Given the description of an element on the screen output the (x, y) to click on. 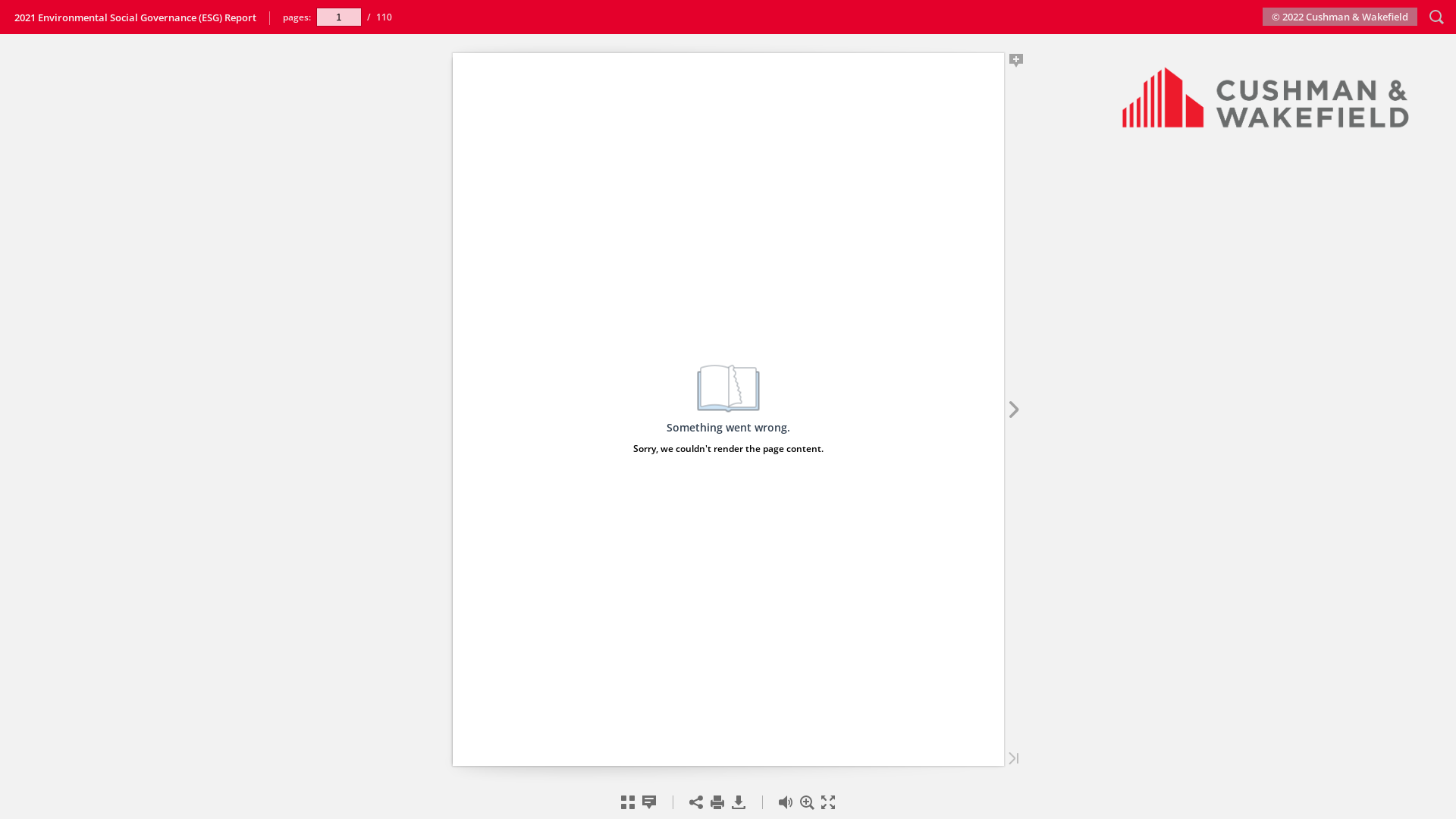
Last Page Element type: hover (1013, 758)
Search Element type: hover (1435, 16)
Download Element type: hover (738, 801)
Thumbnails Element type: hover (627, 801)
Toggle Sound Element type: hover (785, 801)
Fullscreen Element type: hover (827, 801)
Next Page Element type: hover (1013, 409)
Add Note Element type: hover (1016, 60)
Zoom In Element type: hover (806, 801)
Share Element type: hover (695, 801)
Print Element type: hover (717, 801)
Notes Element type: hover (648, 801)
